Given the description of an element on the screen output the (x, y) to click on. 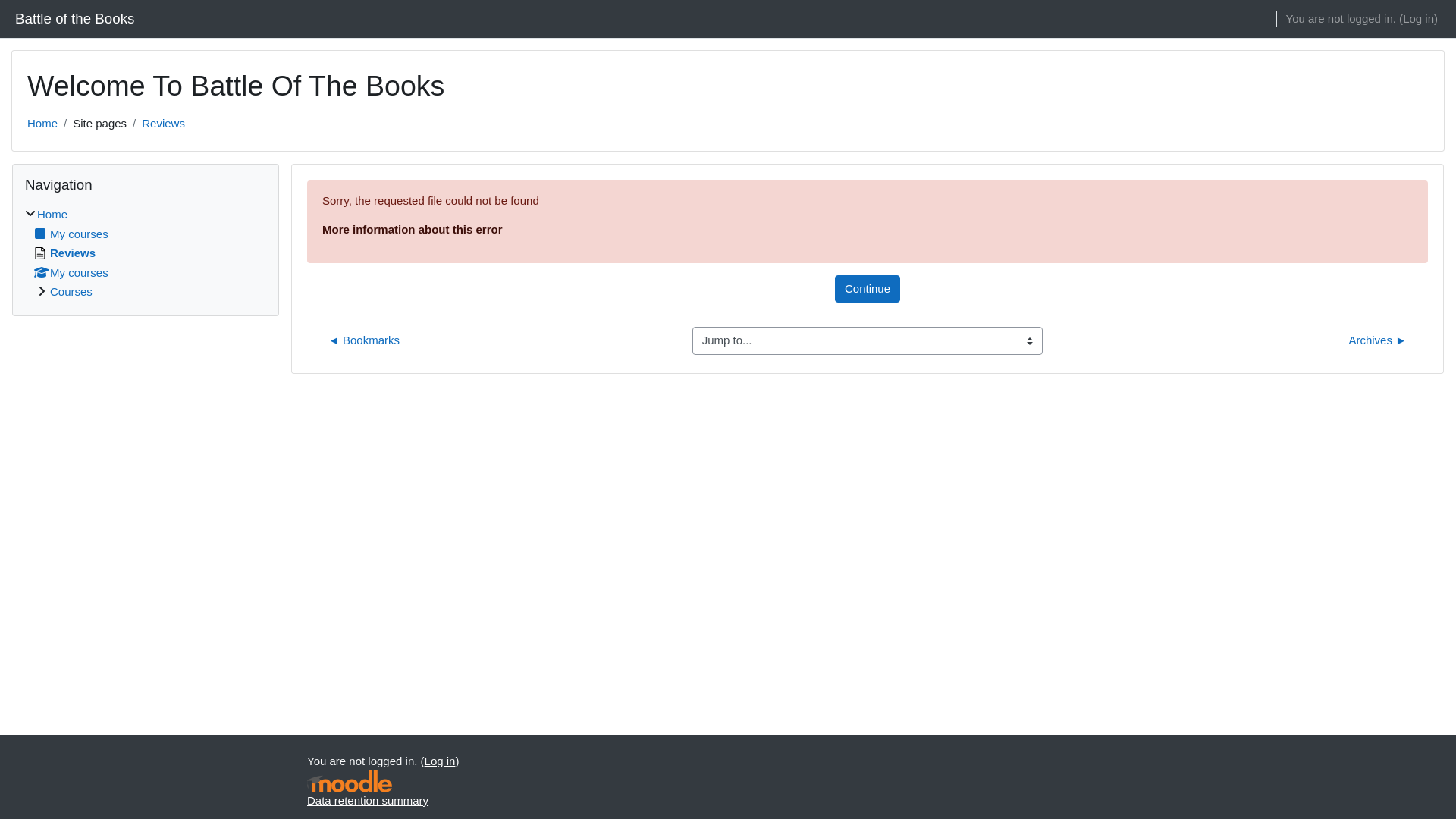
Data retention summary Element type: text (367, 799)
More information about this error Element type: text (412, 228)
Reviews Element type: text (64, 252)
Log in Element type: text (1418, 19)
Courses Element type: text (71, 291)
Log in Element type: text (439, 760)
My courses Element type: text (71, 271)
Battle of the Books Element type: text (74, 18)
Reviews Element type: text (163, 122)
My courses Element type: text (71, 233)
Home Element type: text (52, 213)
Moodle Element type: hover (349, 781)
Home Element type: text (42, 122)
Continue Element type: text (867, 288)
Page Element type: hover (40, 253)
Skip Navigation Element type: text (11, 162)
